Given the description of an element on the screen output the (x, y) to click on. 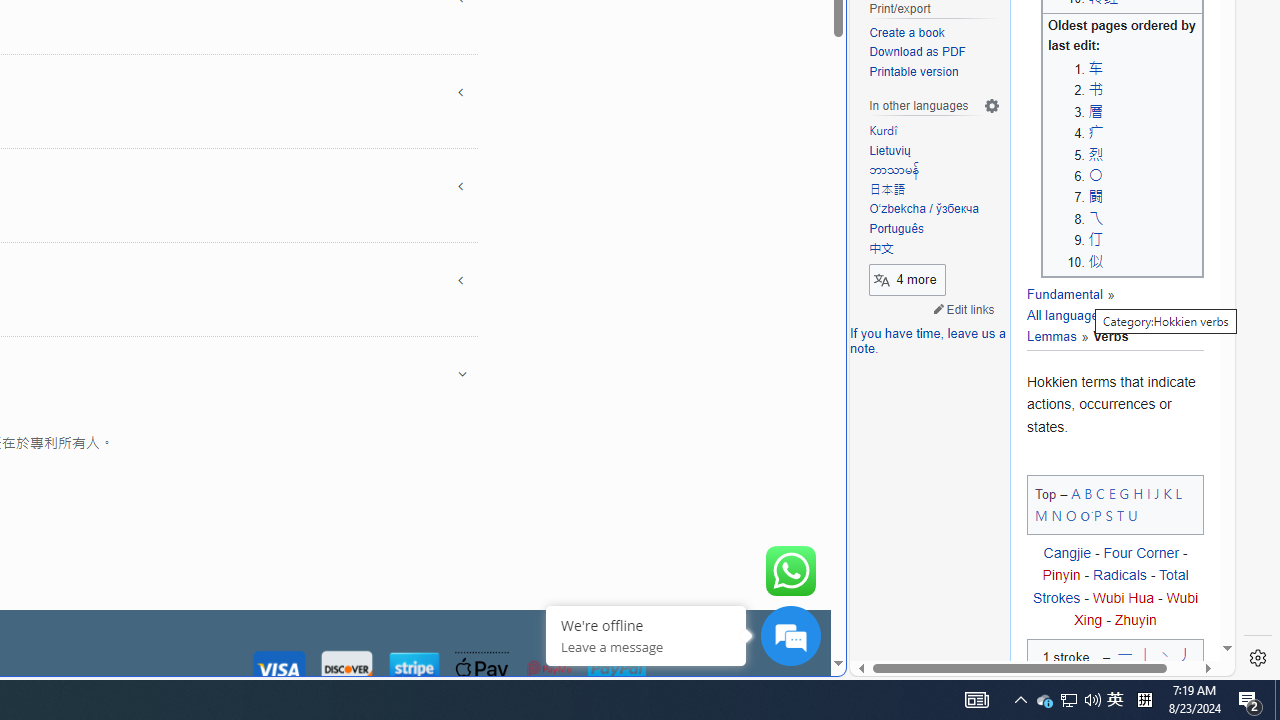
Hokkien (1144, 316)
M (1041, 515)
